Given the description of an element on the screen output the (x, y) to click on. 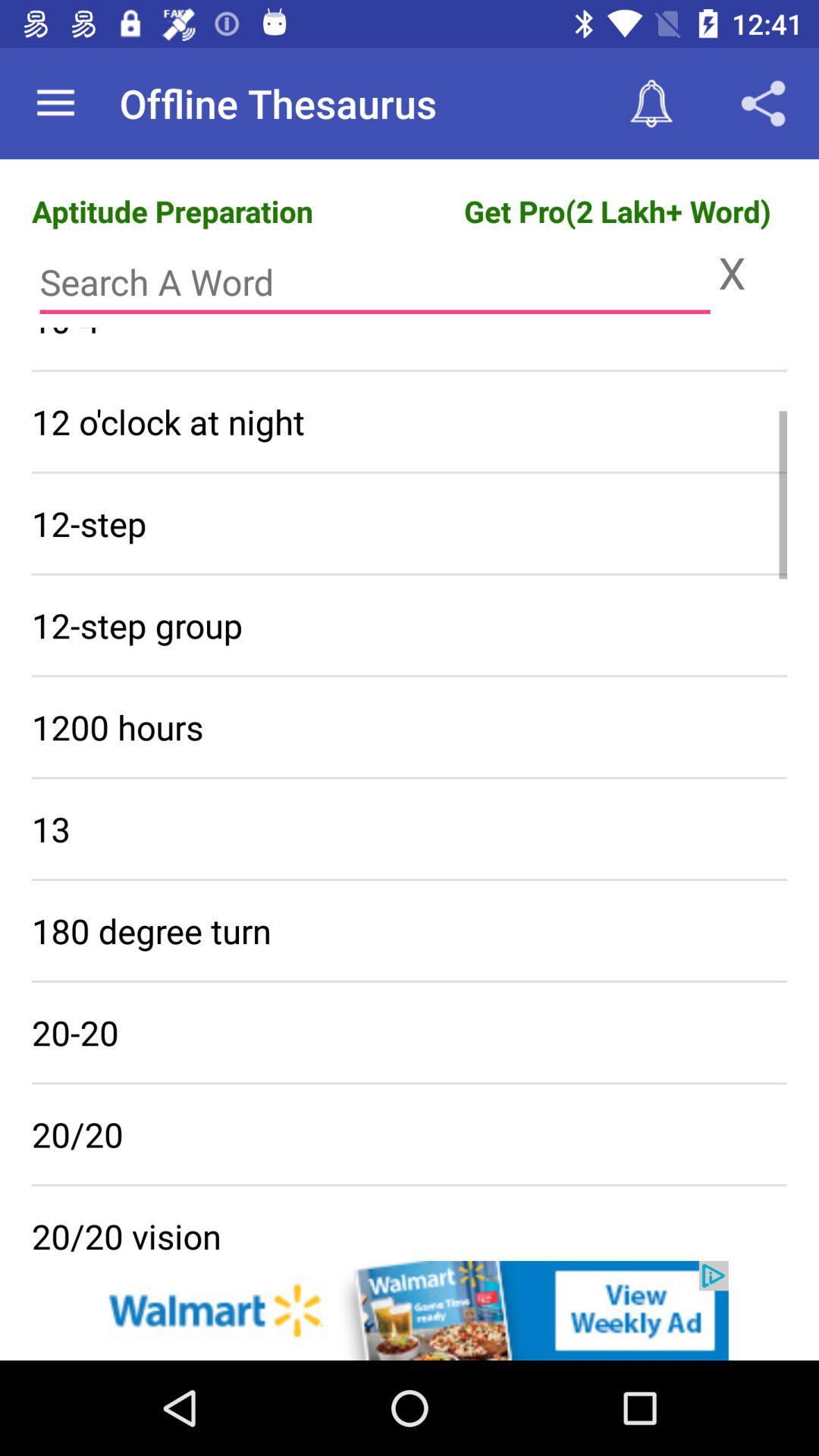
text option (374, 282)
